Given the description of an element on the screen output the (x, y) to click on. 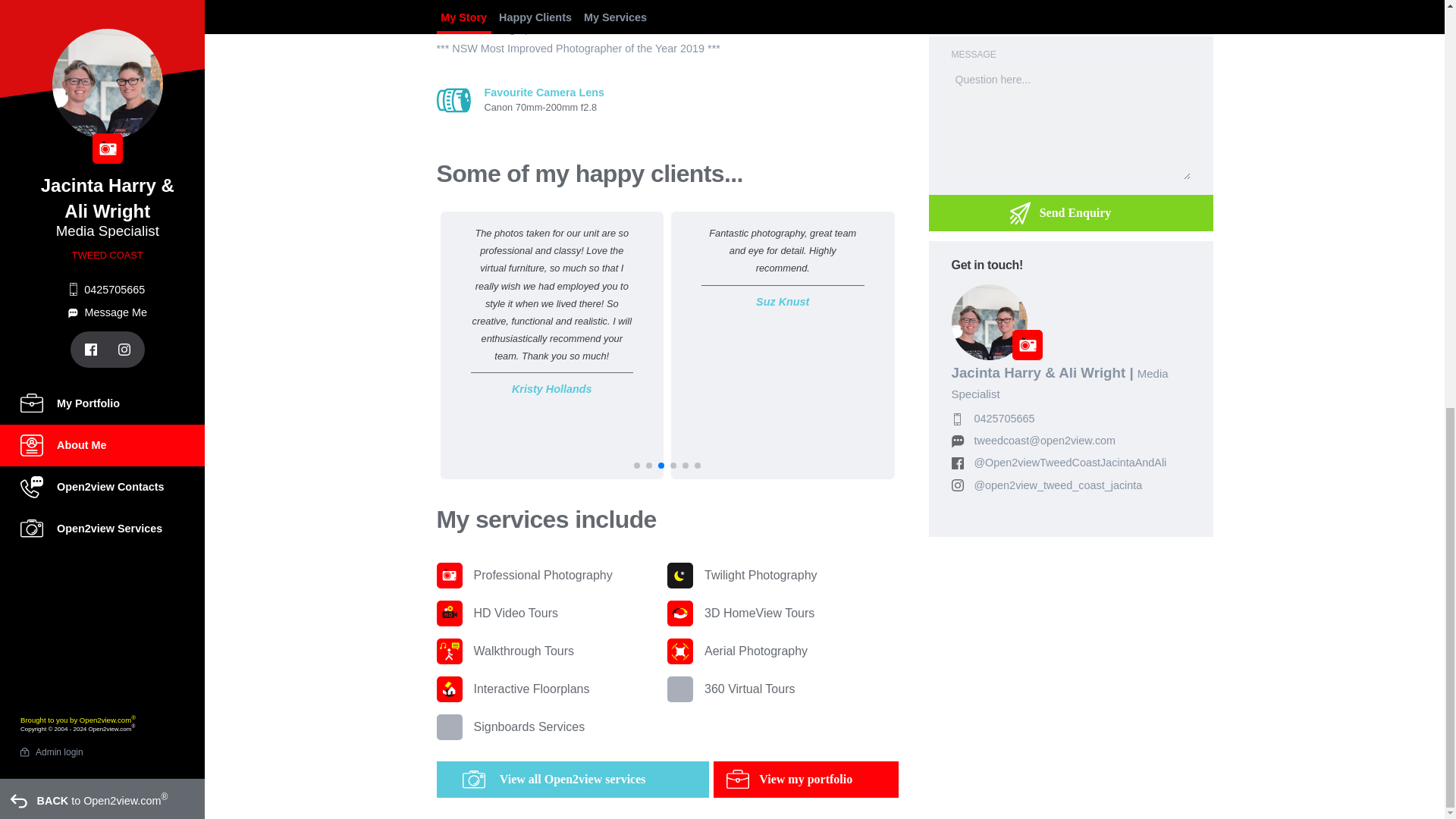
Aerial Photography (782, 651)
Twilight Photography (782, 575)
View my portfolio (805, 779)
Send Enquiry (1070, 212)
View all Open2view services (572, 779)
Interactive Floorplans (552, 689)
0425705665 (1003, 418)
360 Virtual Tours (782, 689)
Signboards Services (552, 727)
Professional Photography (552, 575)
3D HomeView Tours (782, 613)
HD Video Tours (552, 613)
Walkthrough Tours (552, 651)
